Given the description of an element on the screen output the (x, y) to click on. 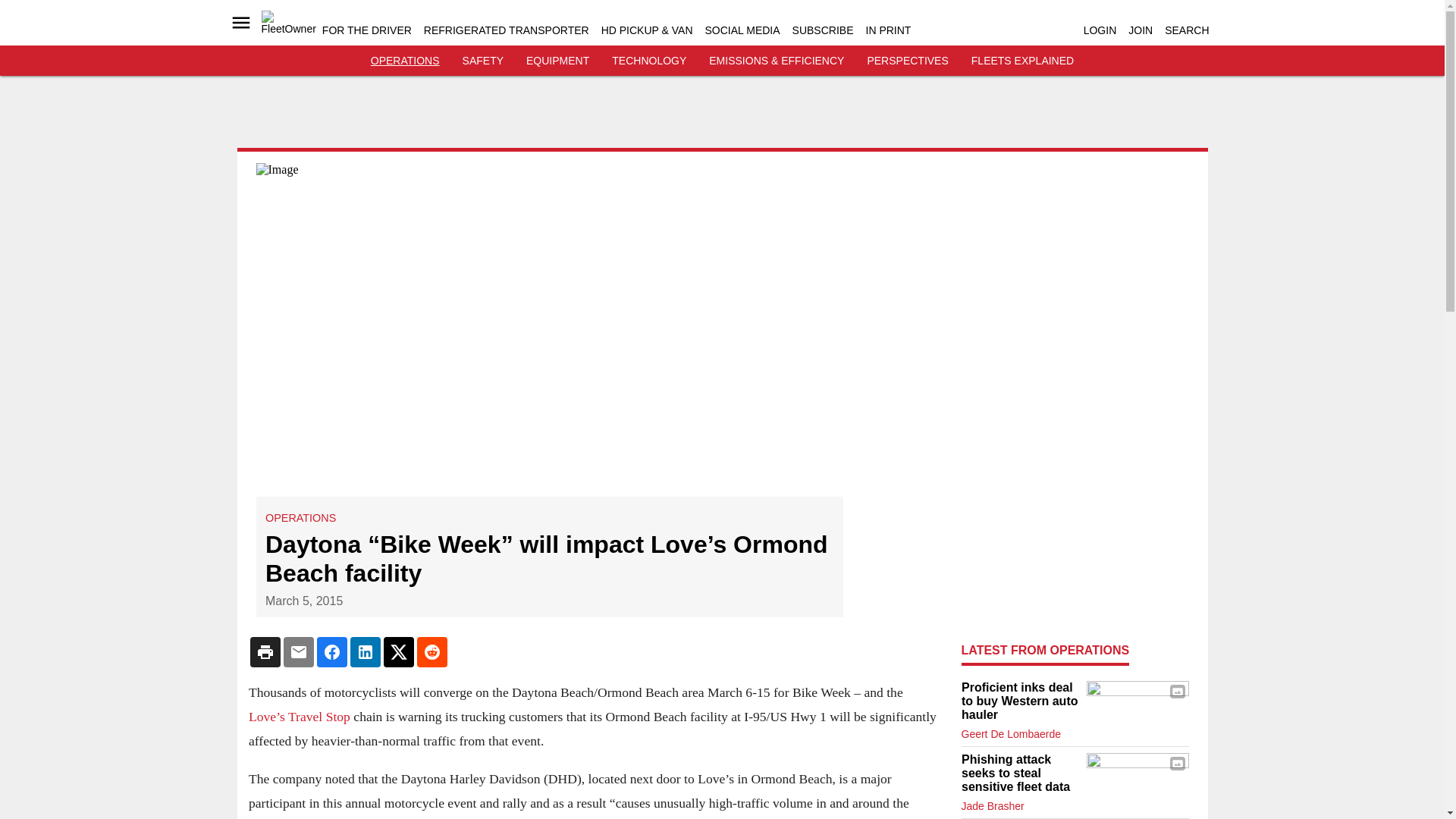
FLEETS EXPLAINED (1022, 60)
EQUIPMENT (557, 60)
FOR THE DRIVER (366, 30)
SUBSCRIBE (822, 30)
JOIN (1140, 30)
SEARCH (1186, 30)
REFRIGERATED TRANSPORTER (506, 30)
PERSPECTIVES (906, 60)
SAFETY (483, 60)
